Given the description of an element on the screen output the (x, y) to click on. 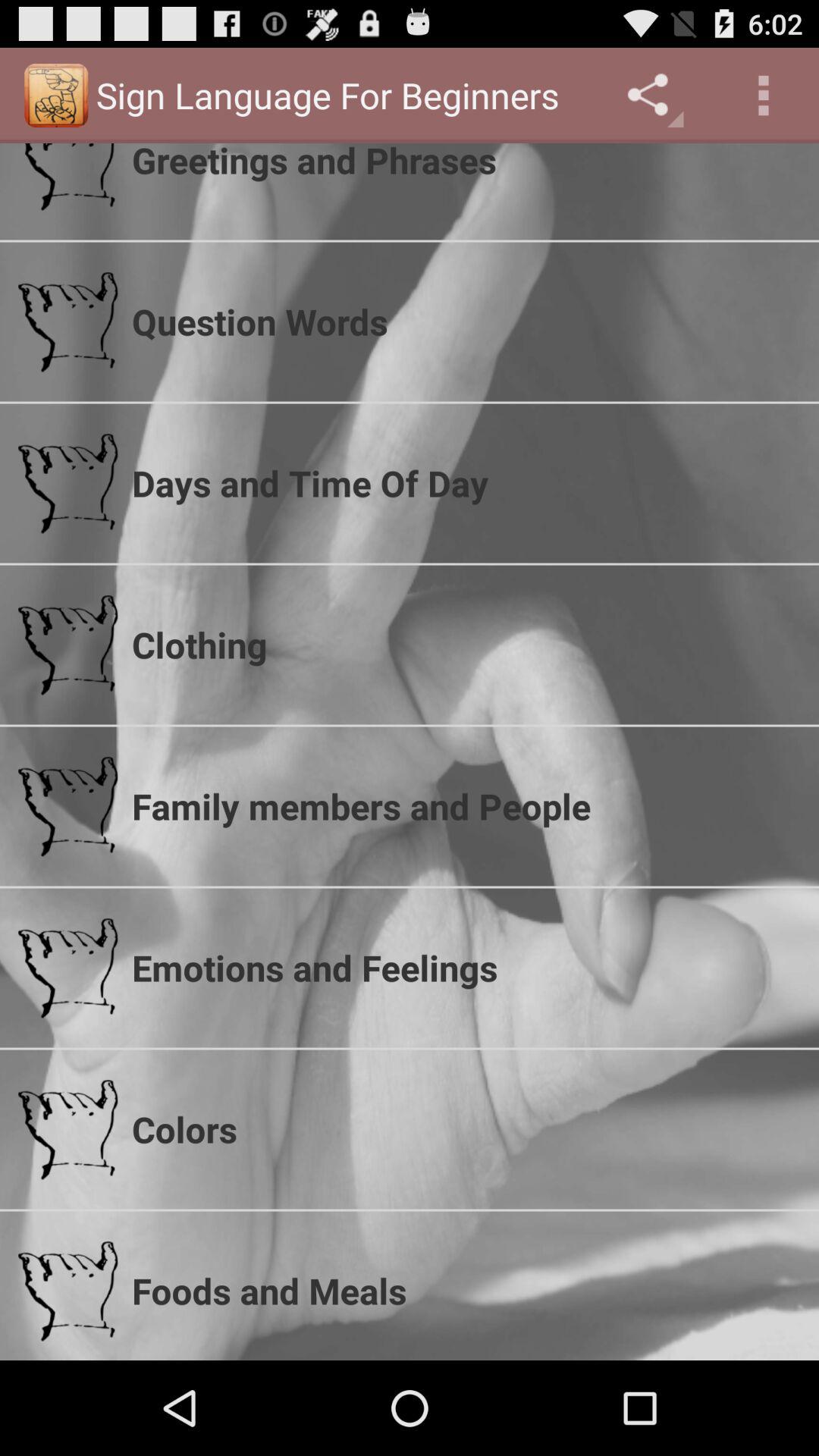
select greetings and phrases item (465, 163)
